Given the description of an element on the screen output the (x, y) to click on. 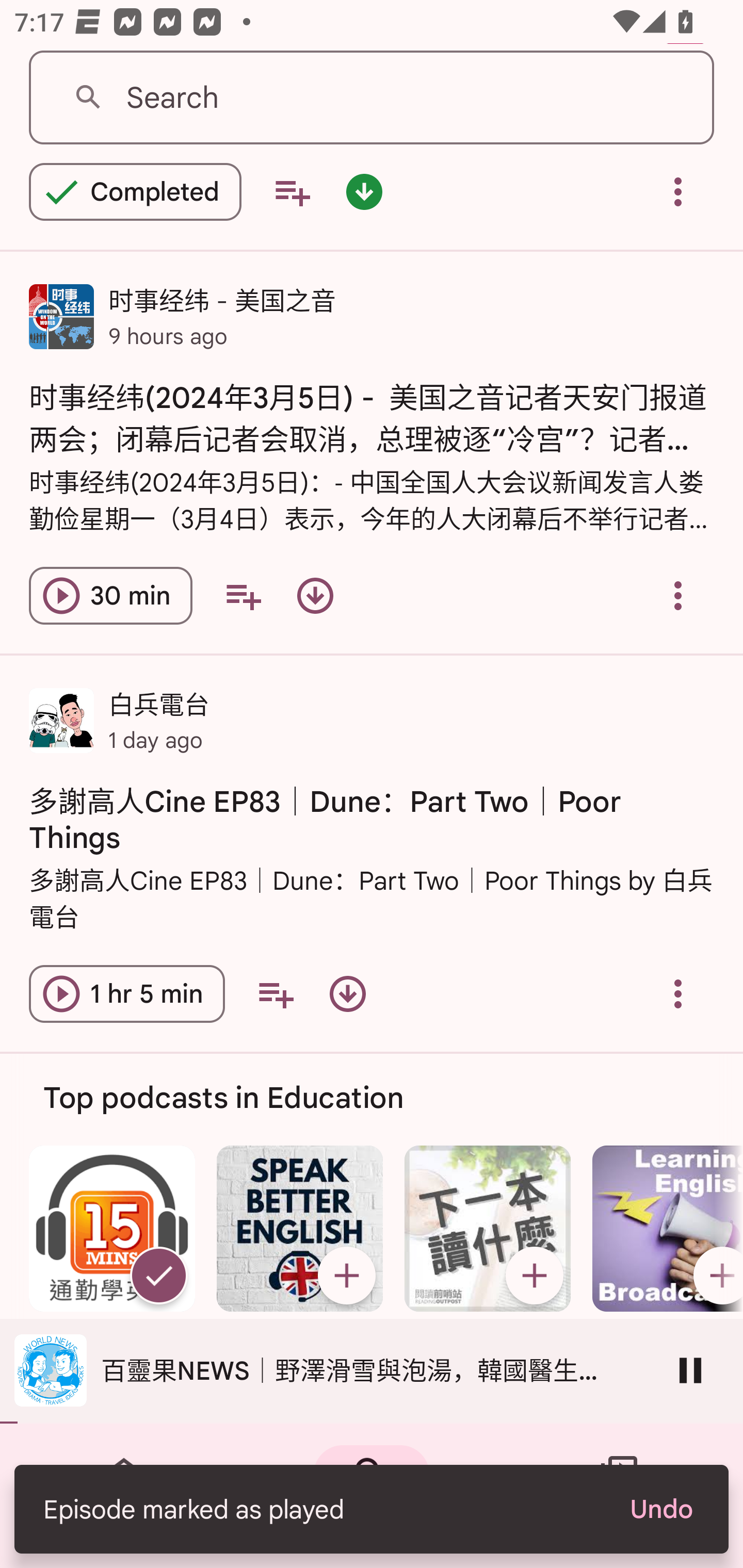
Search (371, 97)
Play episode EP200 溝通無效！！！ Completed (134, 193)
Add to your queue (291, 193)
Episode downloaded - double tap for options (364, 193)
Overflow menu (677, 193)
Add to your queue (242, 595)
Download episode (315, 595)
Overflow menu (677, 595)
Add to your queue (275, 994)
Download episode (347, 994)
Overflow menu (677, 994)
下一本讀什麼？ Subscribe 下一本讀什麼？ 閱讀前哨站 瓦基 (487, 1279)
Unsubscribe (158, 1275)
Subscribe (346, 1275)
Subscribe (534, 1275)
Subscribe (714, 1275)
Pause (690, 1370)
Undo (660, 1509)
